Given the description of an element on the screen output the (x, y) to click on. 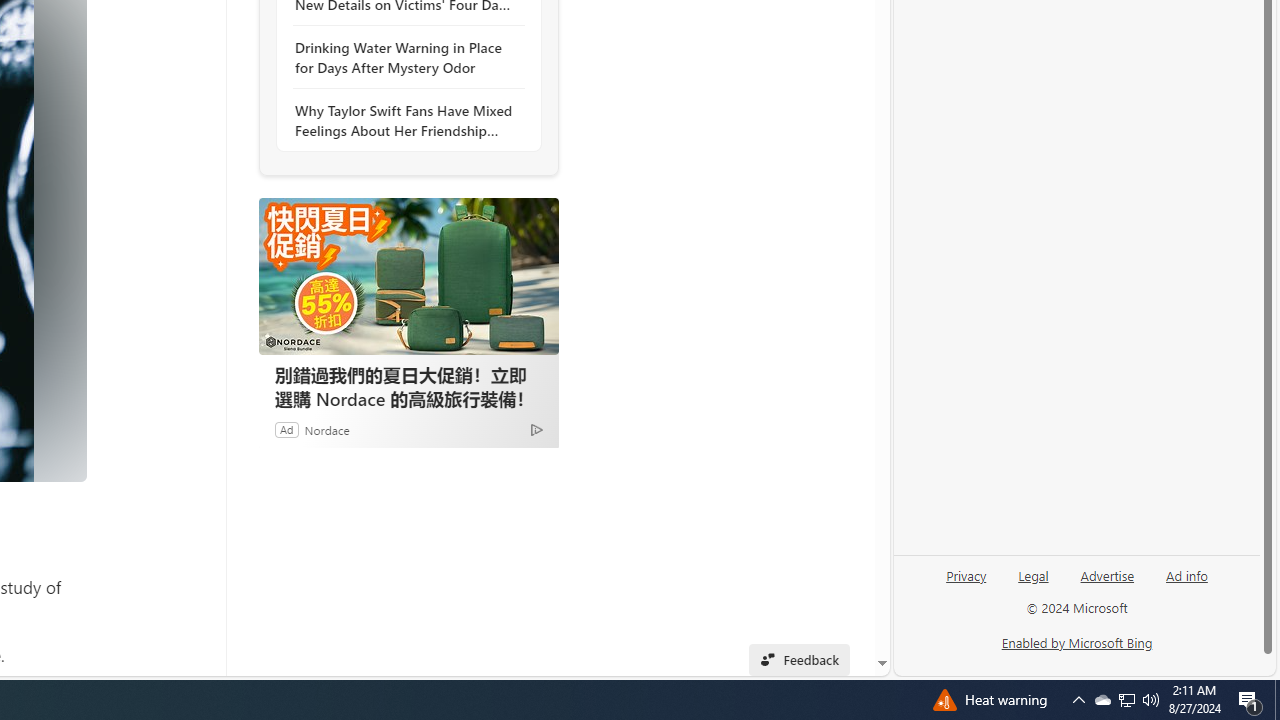
Drinking Water Warning in Place for Days After Mystery Odor (403, 57)
